Given the description of an element on the screen output the (x, y) to click on. 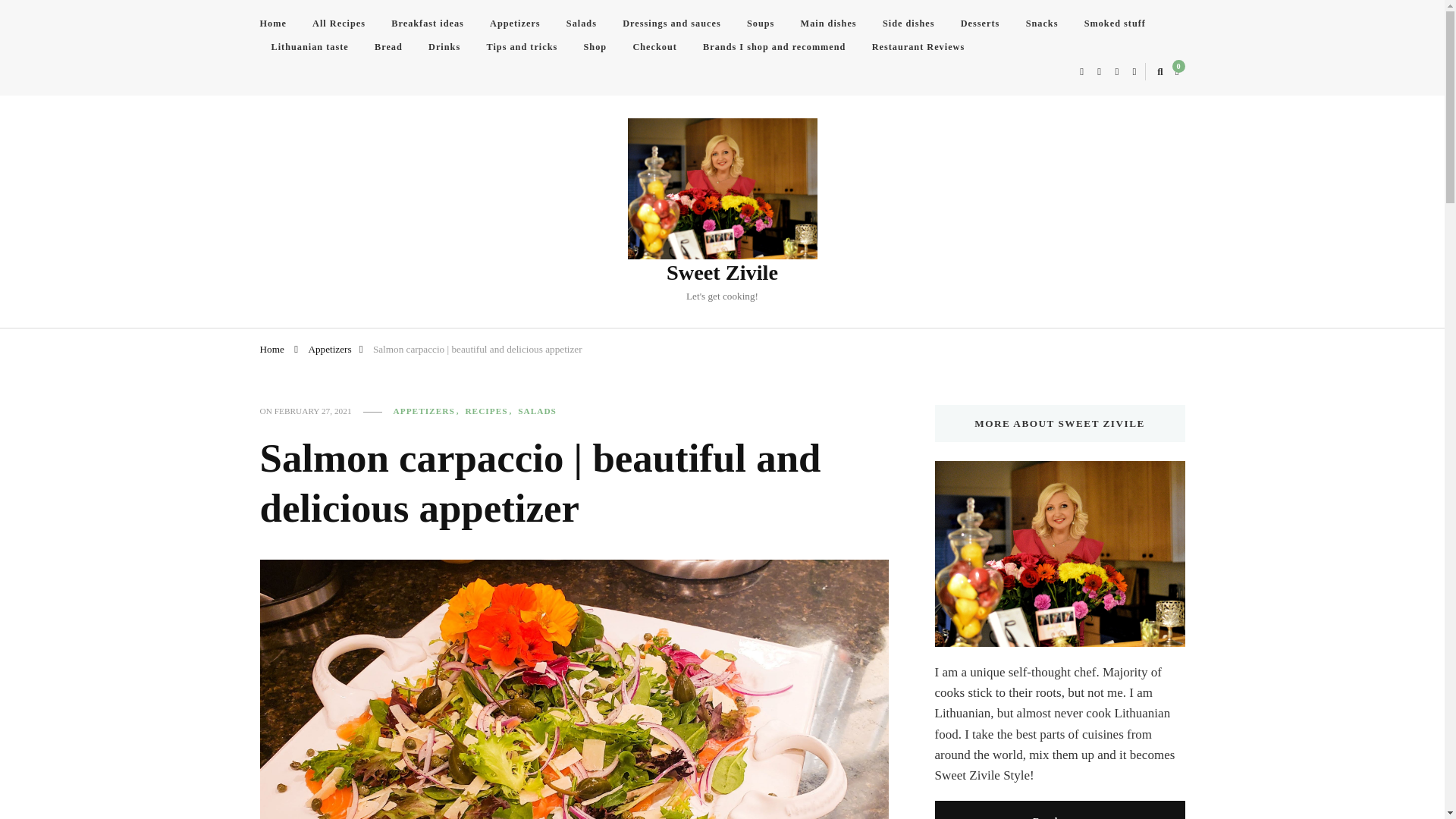
FEBRUARY 27, 2021 (313, 410)
Tips and tricks (521, 47)
Drinks (443, 47)
Smoked stuff (1115, 24)
Appetizers (328, 348)
Breakfast ideas (428, 24)
Restaurant Reviews (918, 47)
Brands I shop and recommend (774, 47)
Home (271, 348)
Sweet Zivile (721, 272)
